Given the description of an element on the screen output the (x, y) to click on. 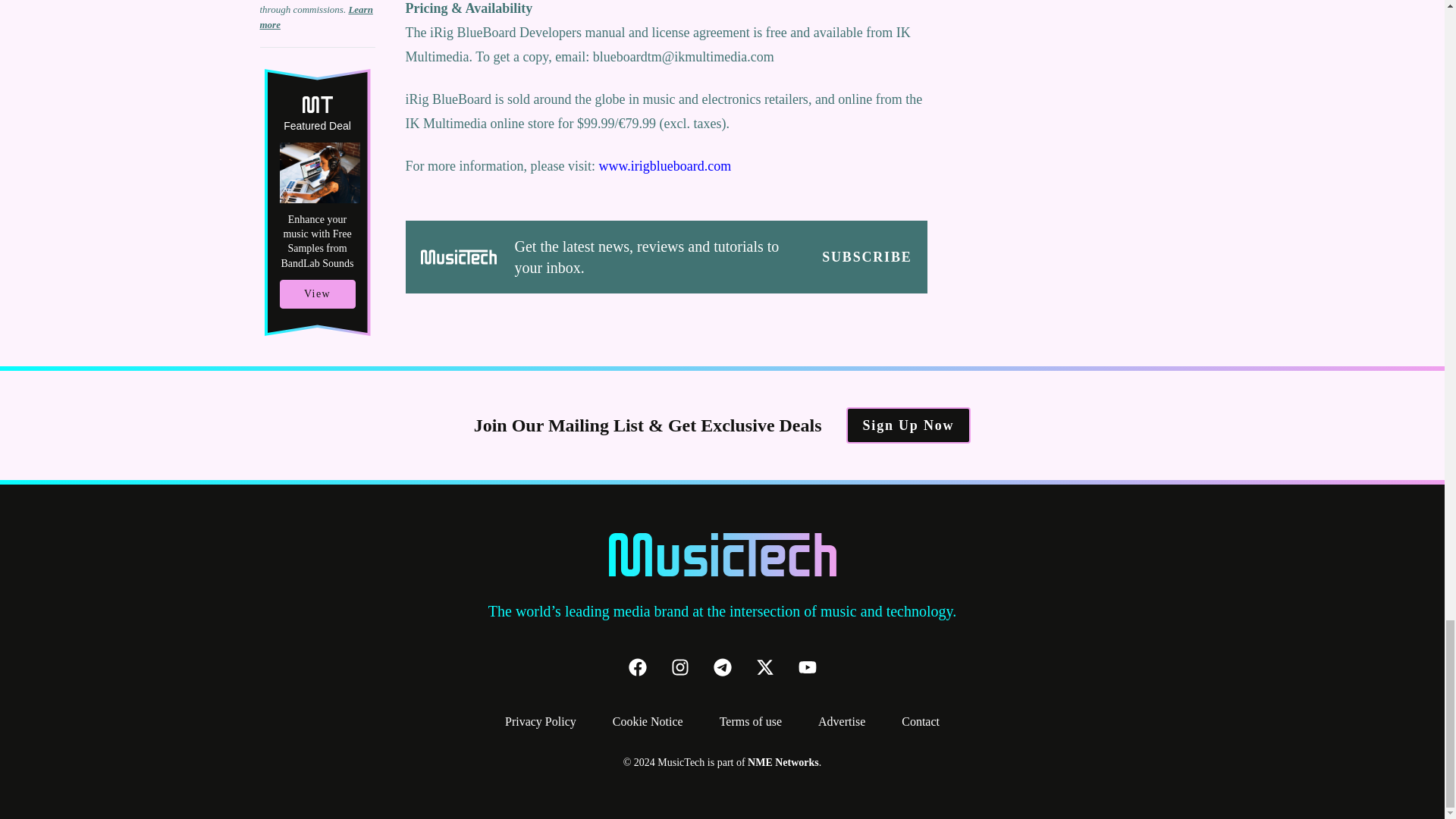
Join our mailing list (866, 256)
www.irigblueboard.com (664, 165)
